Given the description of an element on the screen output the (x, y) to click on. 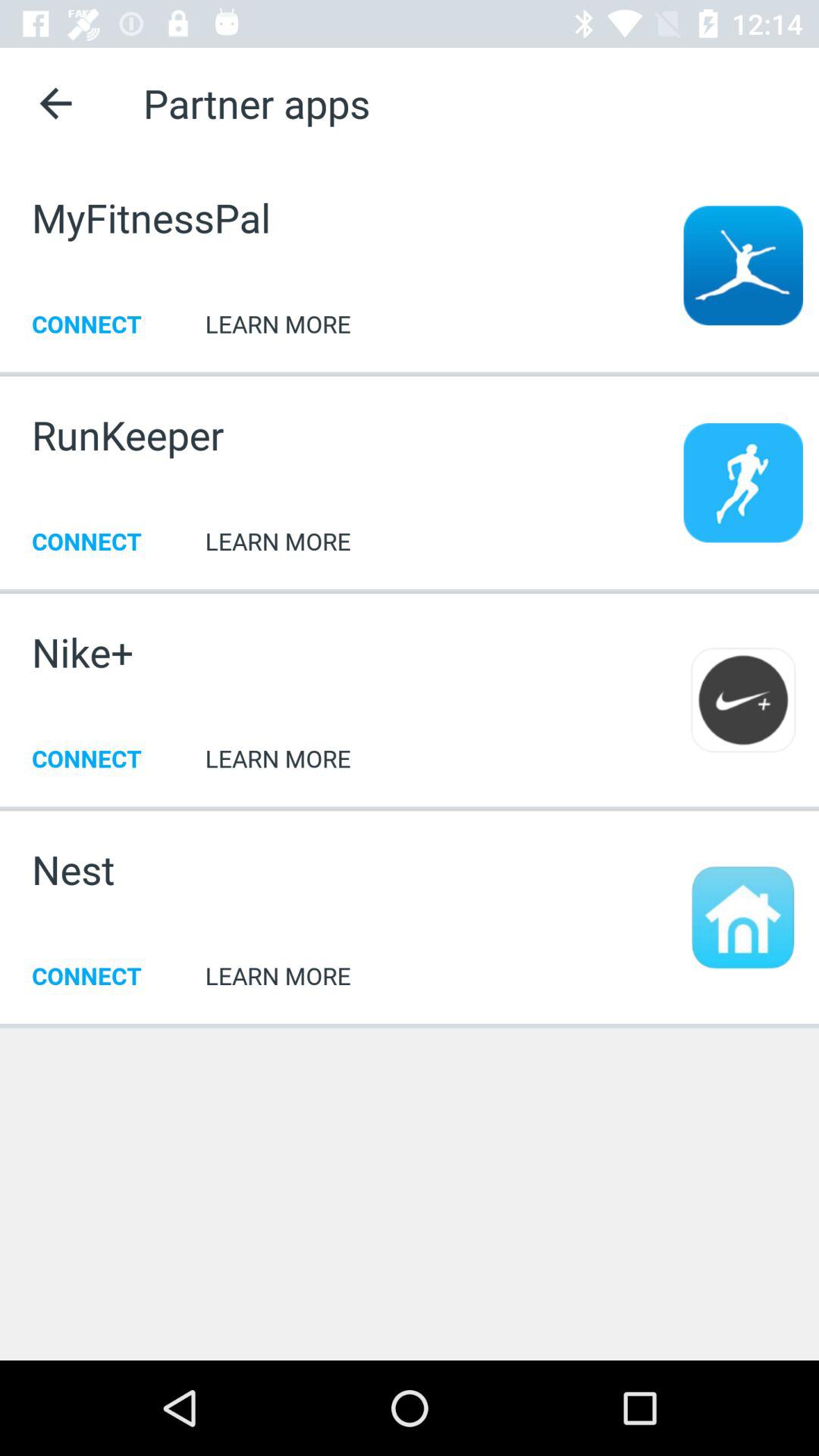
back page icon (55, 103)
